Given the description of an element on the screen output the (x, y) to click on. 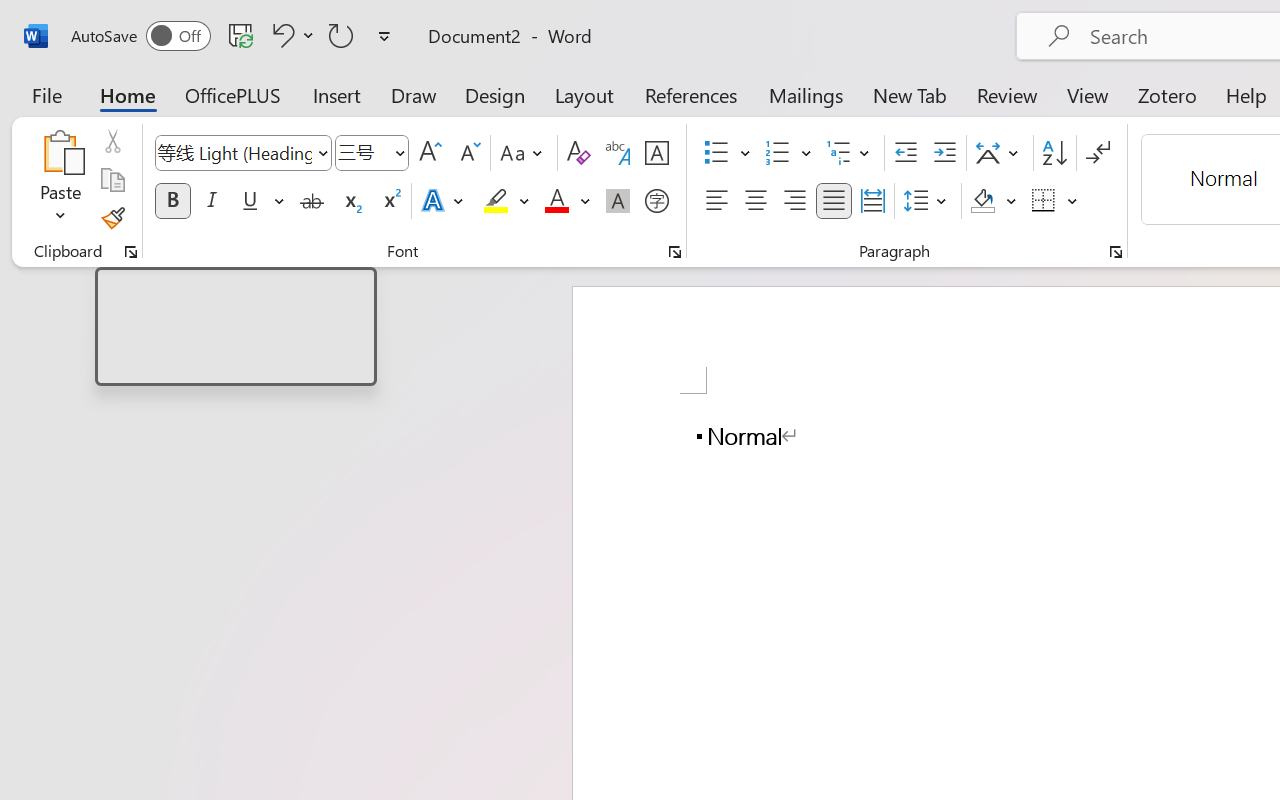
More Options (1073, 201)
Increase Indent (944, 153)
Align Left (716, 201)
Bullets (716, 153)
Asian Layout (1000, 153)
Format Painter (112, 218)
Quick Access Toolbar (233, 36)
Design (495, 94)
Font (242, 153)
Font Color Red (556, 201)
Font Color (567, 201)
Font Size (372, 153)
Mailings (806, 94)
